Given the description of an element on the screen output the (x, y) to click on. 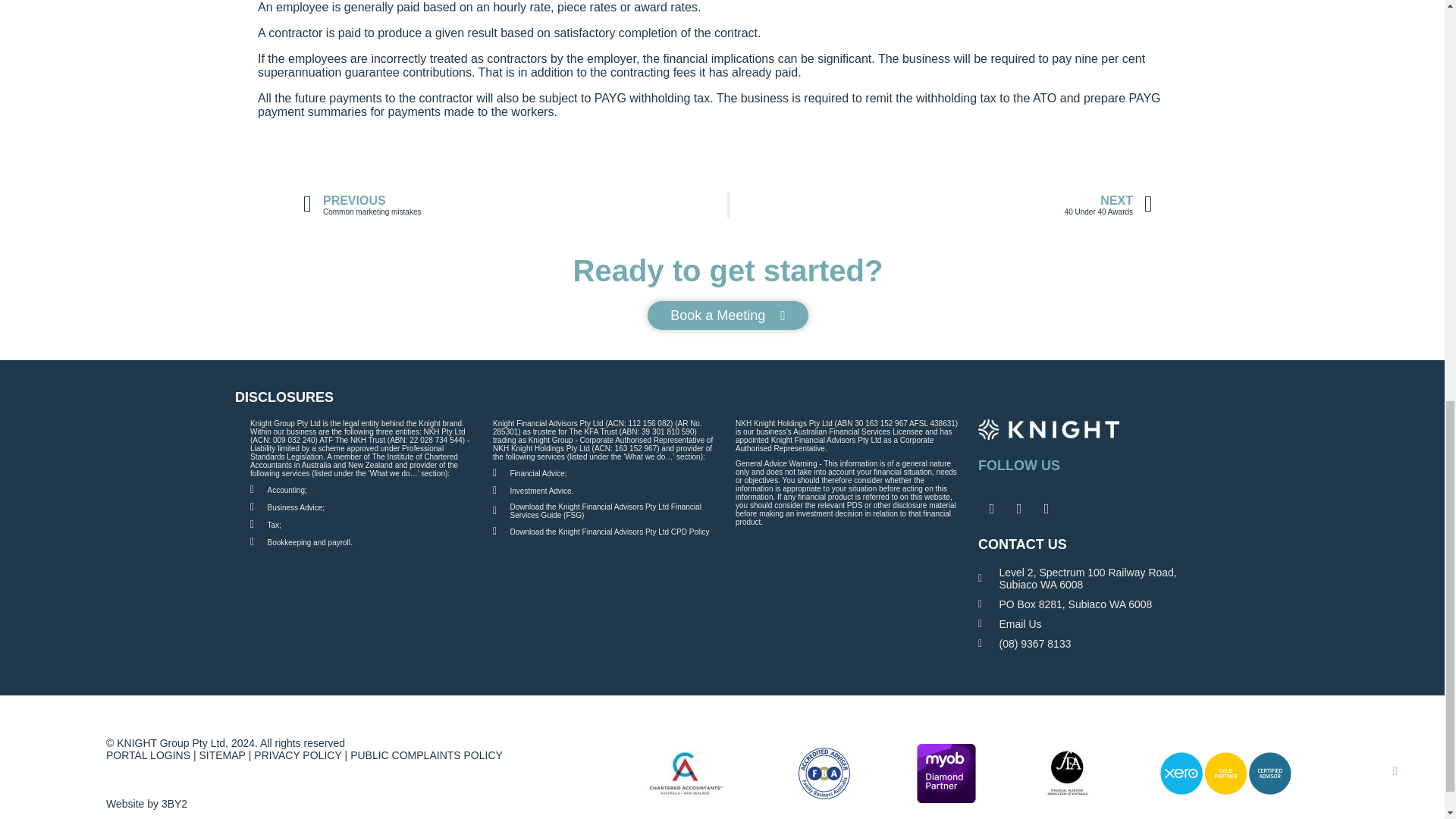
FBA.png (823, 772)
Book a Meeting (941, 204)
Partner-Program-logo-Diamond-vertical (727, 315)
xero-gold-partner-cert-advisor-badges-RGB.png (945, 772)
CA-Logo.jpg (1225, 772)
FPA.jpeg (686, 772)
